Given the description of an element on the screen output the (x, y) to click on. 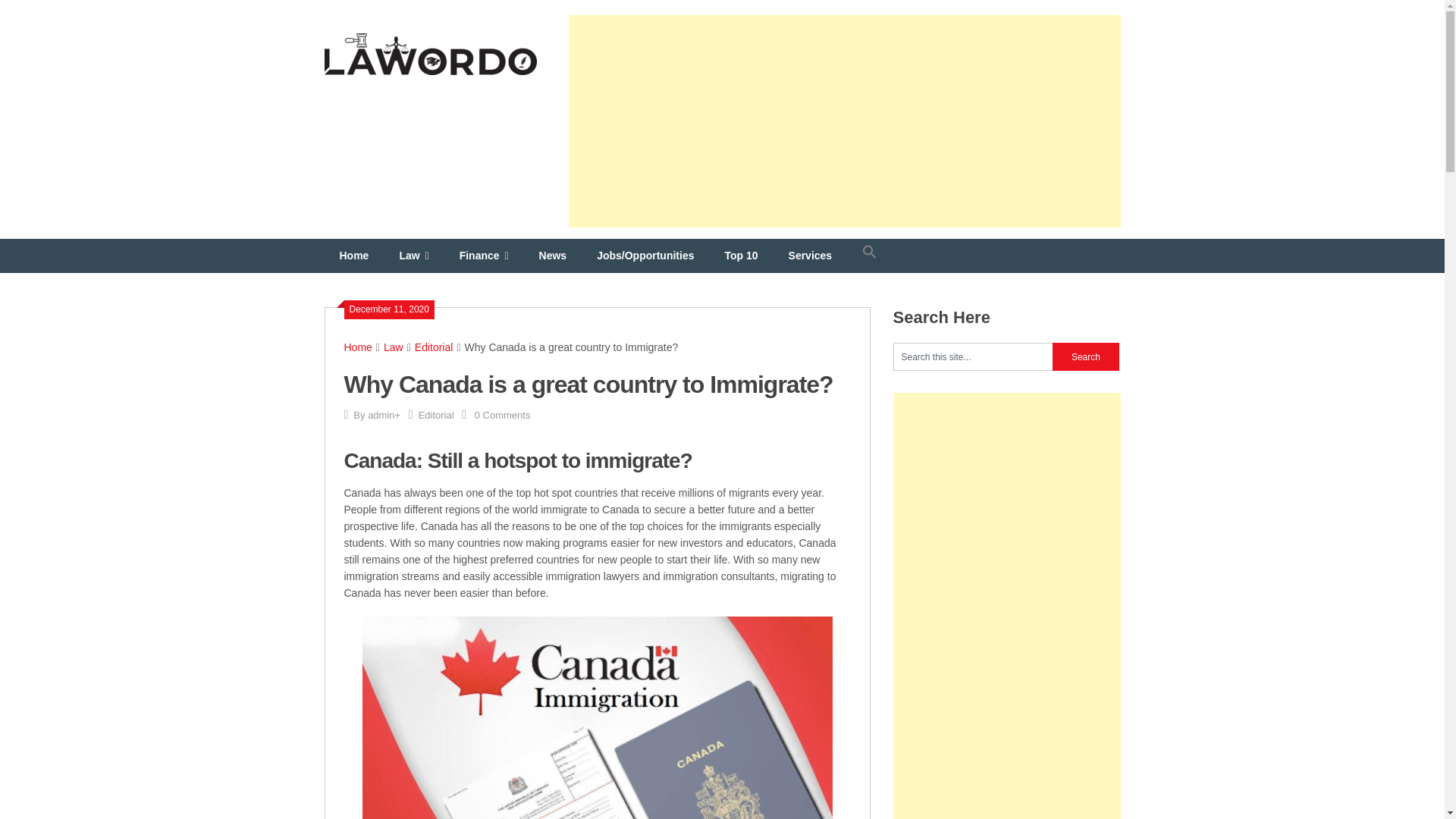
admin (381, 414)
Top 10 (741, 255)
Law (393, 346)
Posts by admin (381, 414)
Home (357, 346)
Search (1085, 357)
Services (810, 255)
News (553, 255)
Home (354, 255)
Finance (484, 255)
Editorial (433, 346)
0 Comments (502, 414)
Search (1085, 357)
Search this site... (972, 357)
Law (414, 255)
